Given the description of an element on the screen output the (x, y) to click on. 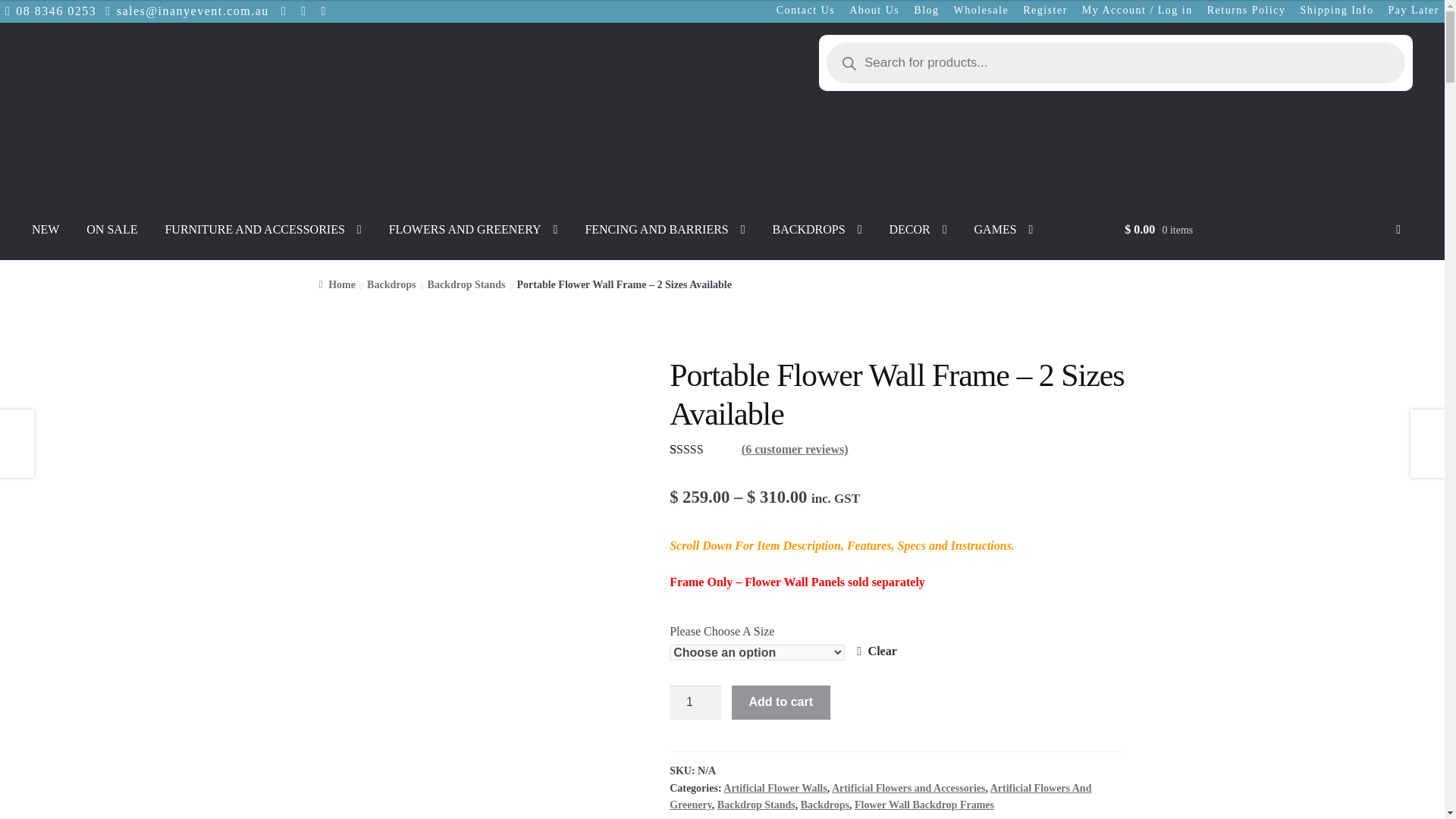
Shipping Info (1336, 10)
08 8346 0253 (48, 10)
About Us (874, 10)
1 (694, 702)
Register (1045, 10)
Wholesale (981, 10)
View your shopping cart (1262, 239)
ON SALE (111, 229)
Returns Policy (1246, 10)
FLOWERS AND GREENERY (473, 229)
FURNITURE AND ACCESSORIES (262, 229)
Blog (925, 10)
Contact Us (806, 10)
